Given the description of an element on the screen output the (x, y) to click on. 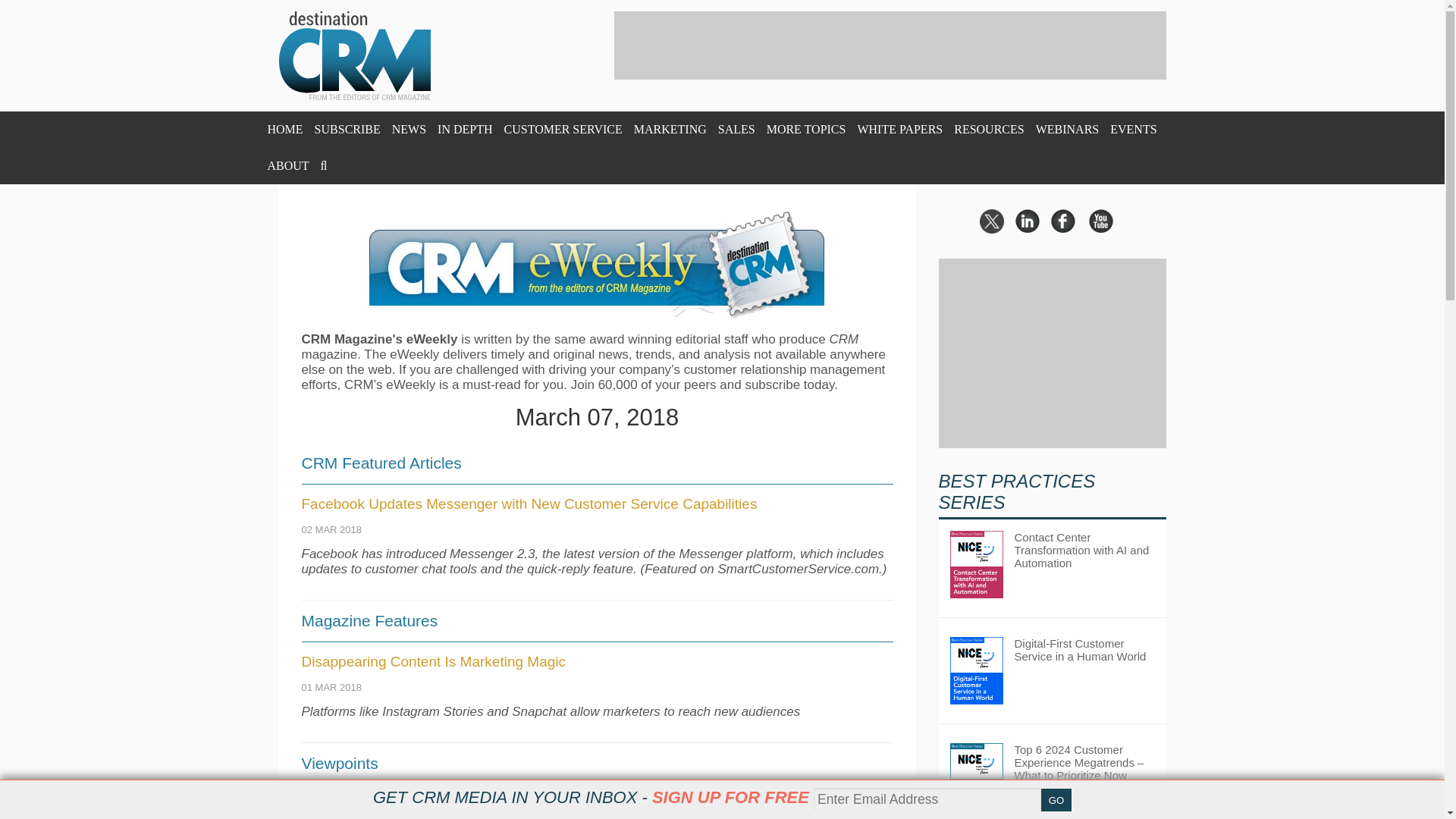
Sales (736, 129)
SUBSCRIBE (347, 129)
SALES (736, 129)
CUSTOMER SERVICE (563, 129)
HOME (284, 129)
3rd party ad content (890, 45)
RESOURCES (988, 129)
MARKETING (669, 129)
MORE TOPICS (806, 129)
NEWS (408, 129)
